Given the description of an element on the screen output the (x, y) to click on. 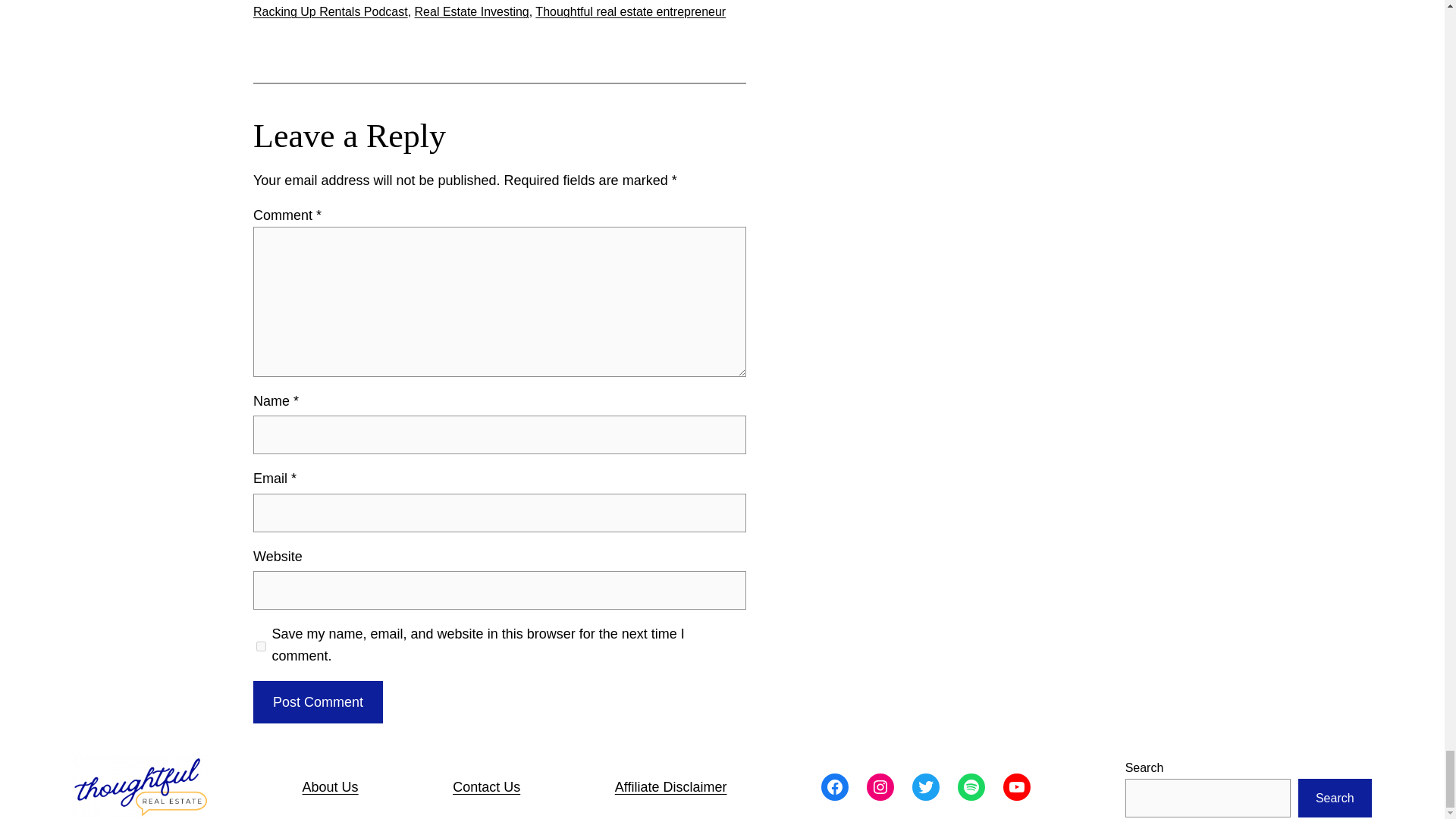
Post Comment (317, 701)
Real Estate Investing (471, 11)
Racking Up Rentals Podcast (330, 11)
Thoughtful real estate entrepreneur (630, 11)
